Given the description of an element on the screen output the (x, y) to click on. 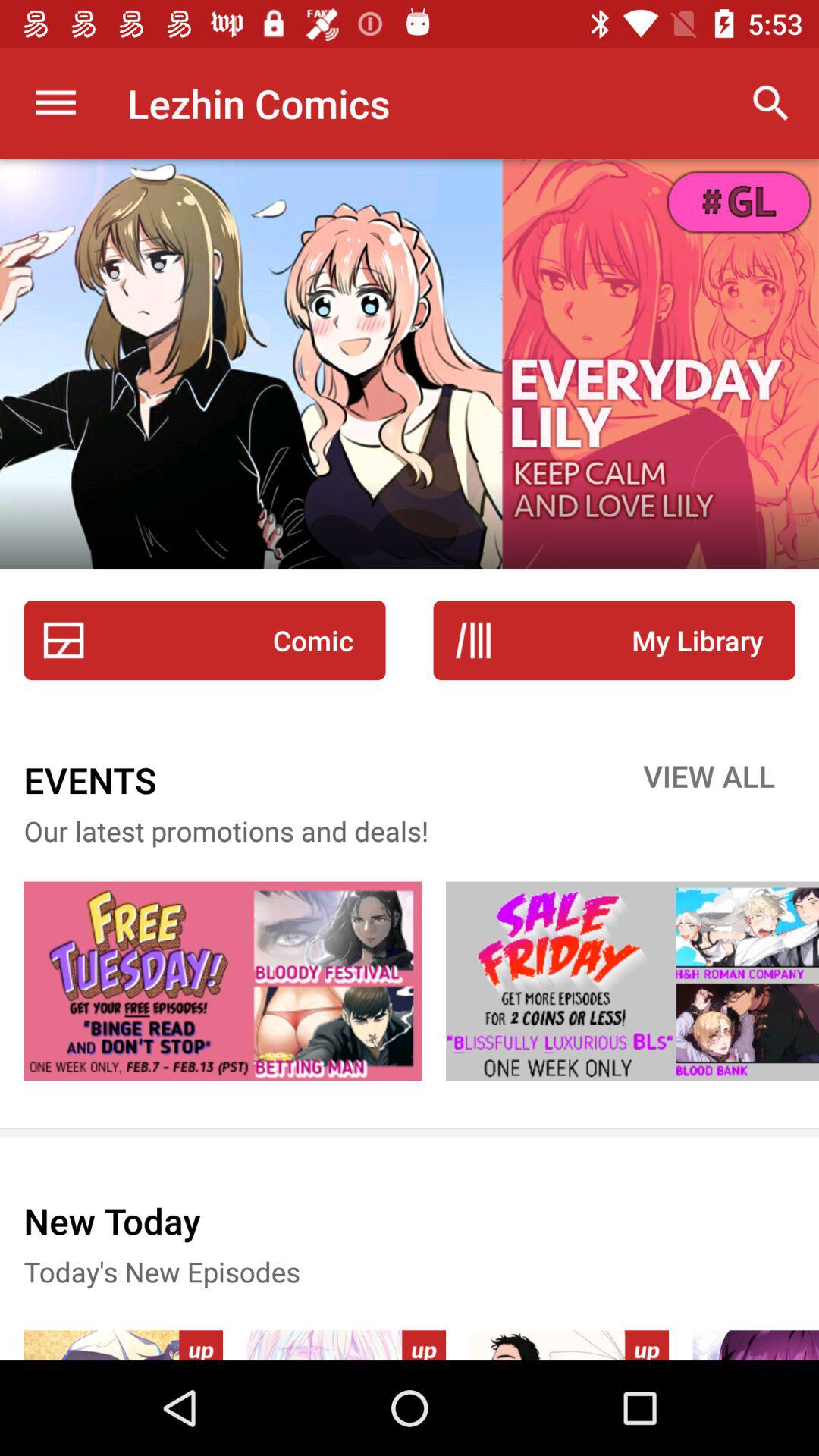
choose the icon below the our latest promotions (222, 980)
